Given the description of an element on the screen output the (x, y) to click on. 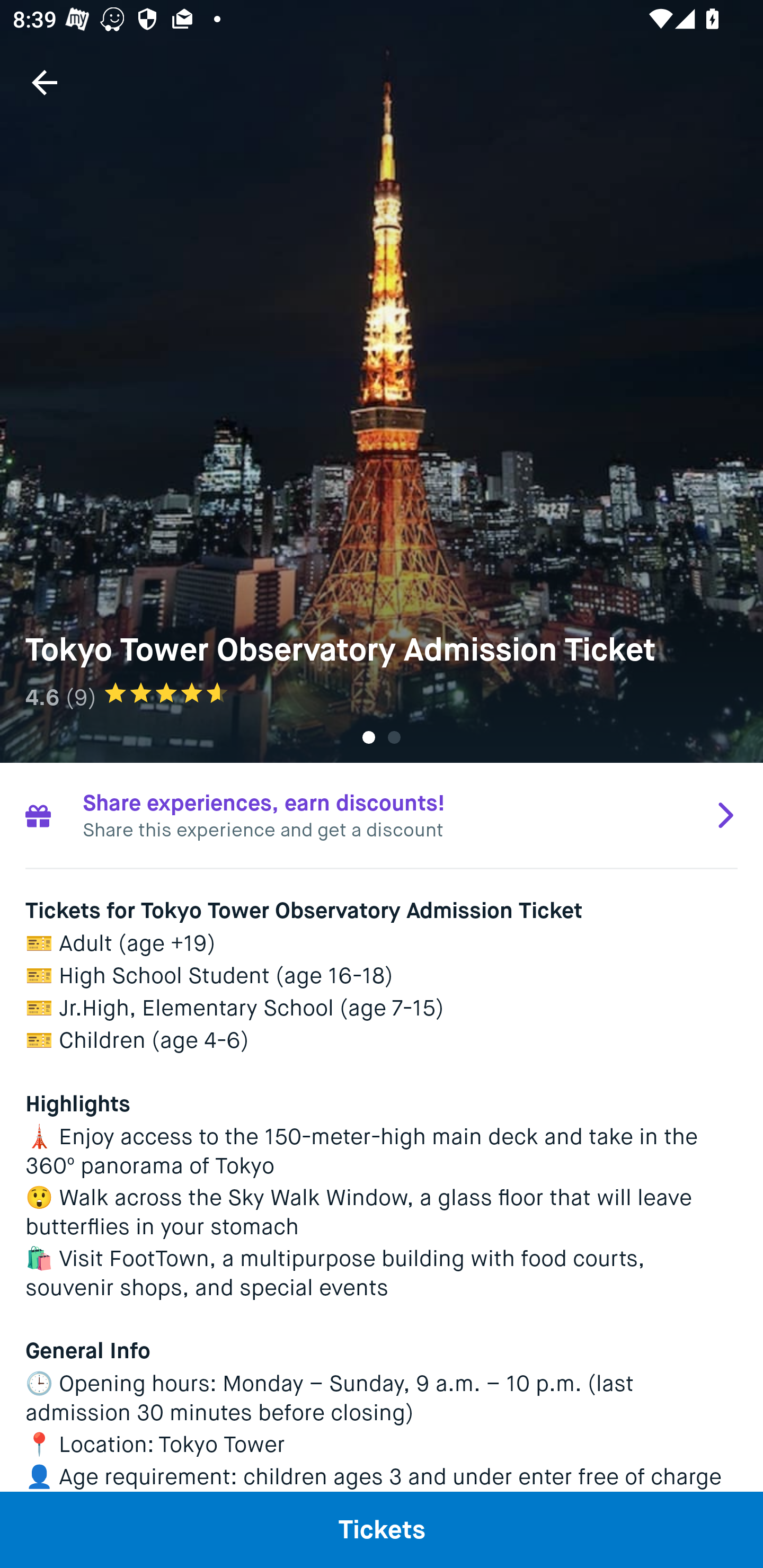
Navigate up (44, 82)
(9) (80, 697)
Tickets (381, 1529)
